Given the description of an element on the screen output the (x, y) to click on. 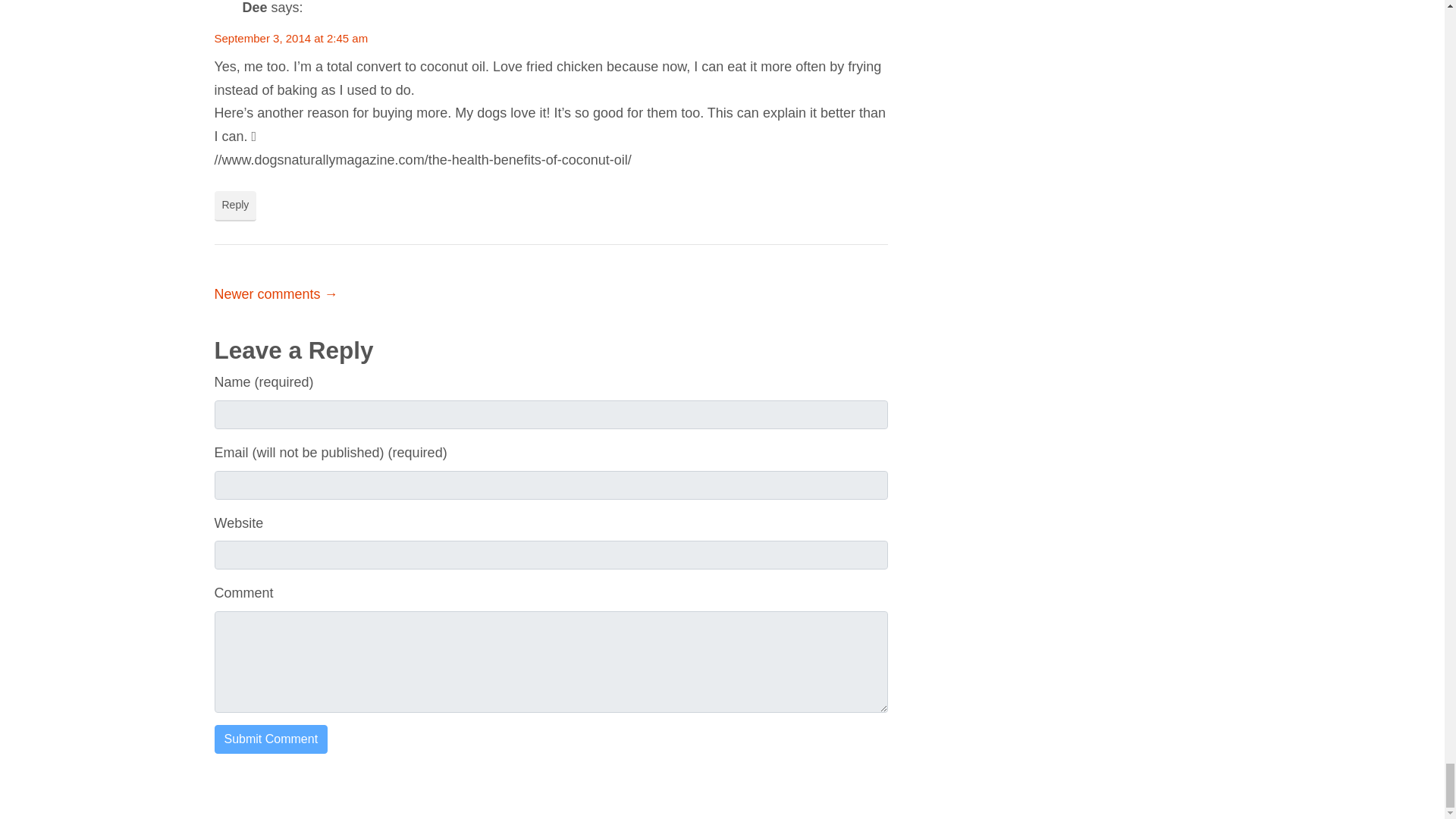
Submit Comment (270, 738)
